Given the description of an element on the screen output the (x, y) to click on. 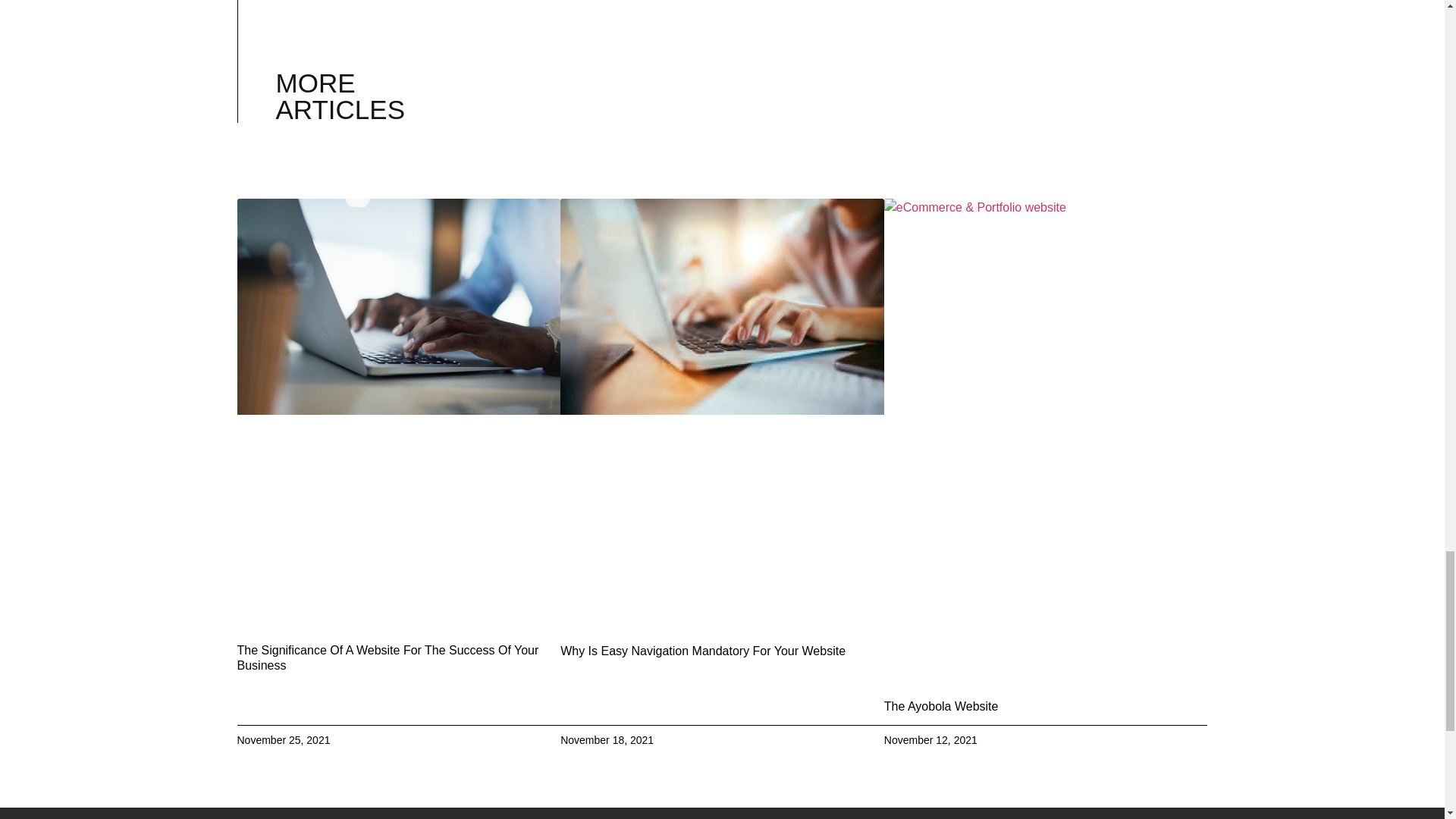
The Ayobola Website (940, 706)
Why Is Easy Navigation Mandatory For Your Website (702, 650)
